Given the description of an element on the screen output the (x, y) to click on. 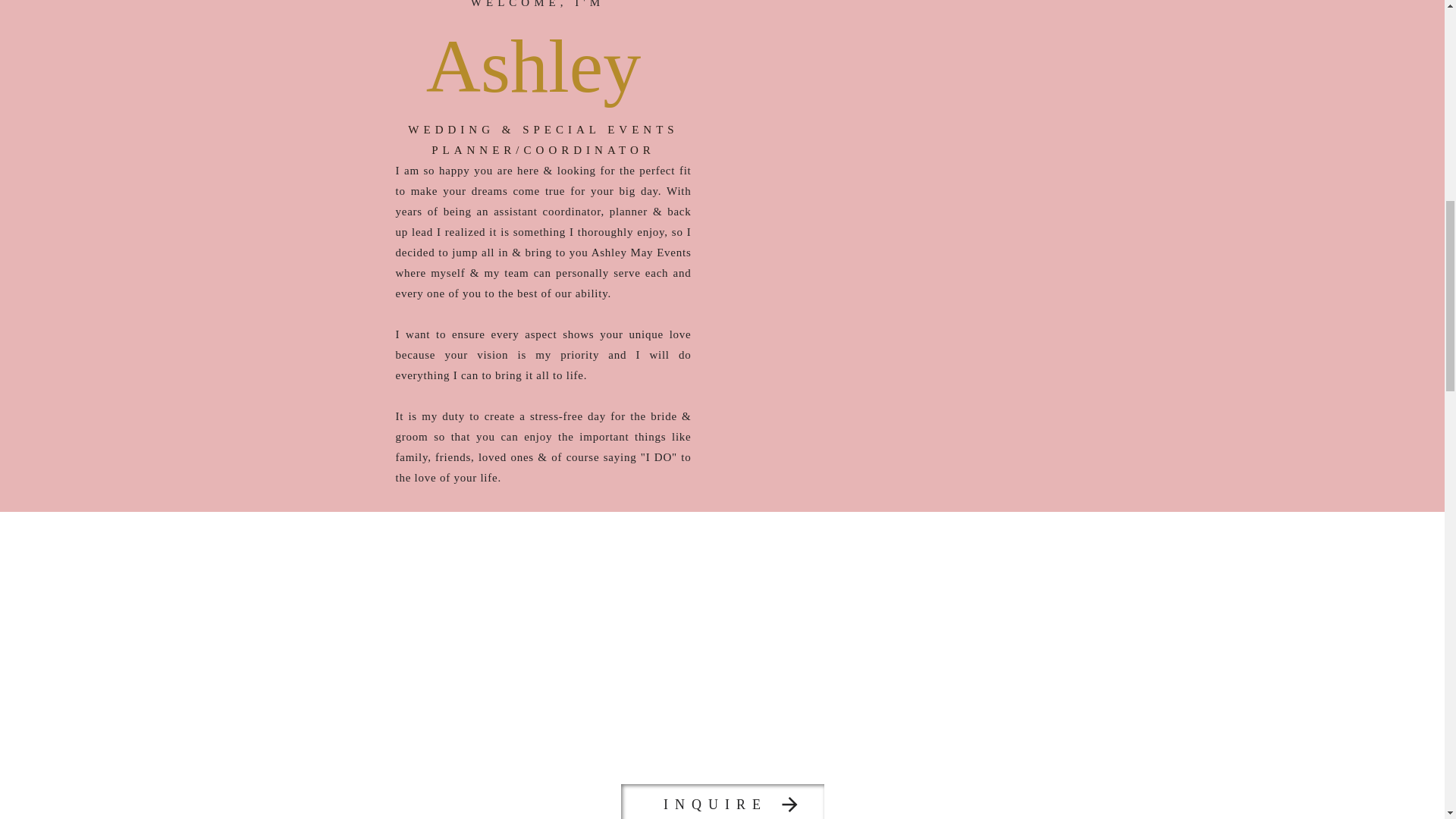
started (722, 713)
INQUIRE (714, 803)
LET'S GET (722, 636)
